Given the description of an element on the screen output the (x, y) to click on. 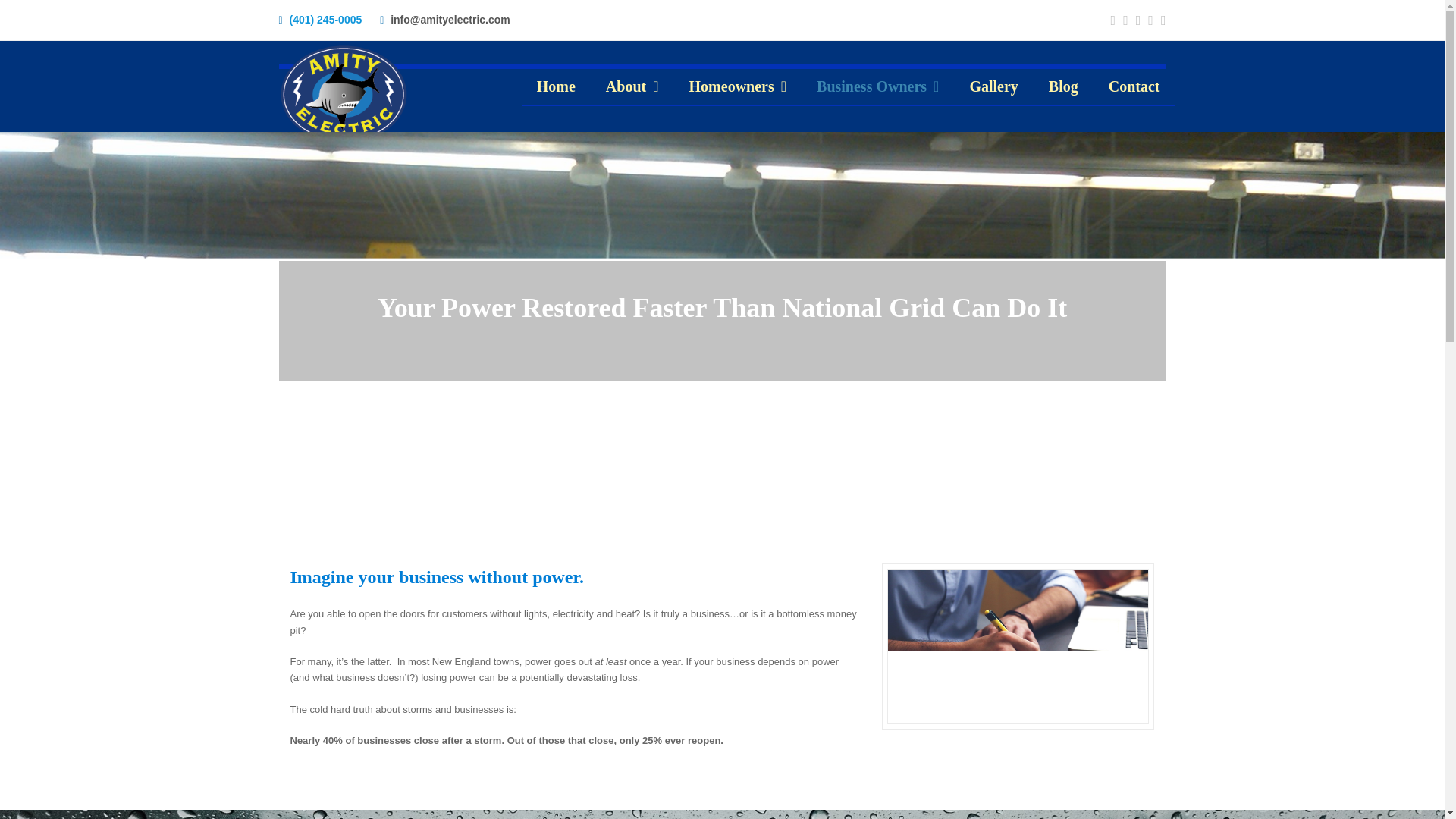
Home (556, 86)
Amity Electric (343, 93)
Business Owners (877, 86)
Homeowners (738, 86)
About (632, 86)
